Given the description of an element on the screen output the (x, y) to click on. 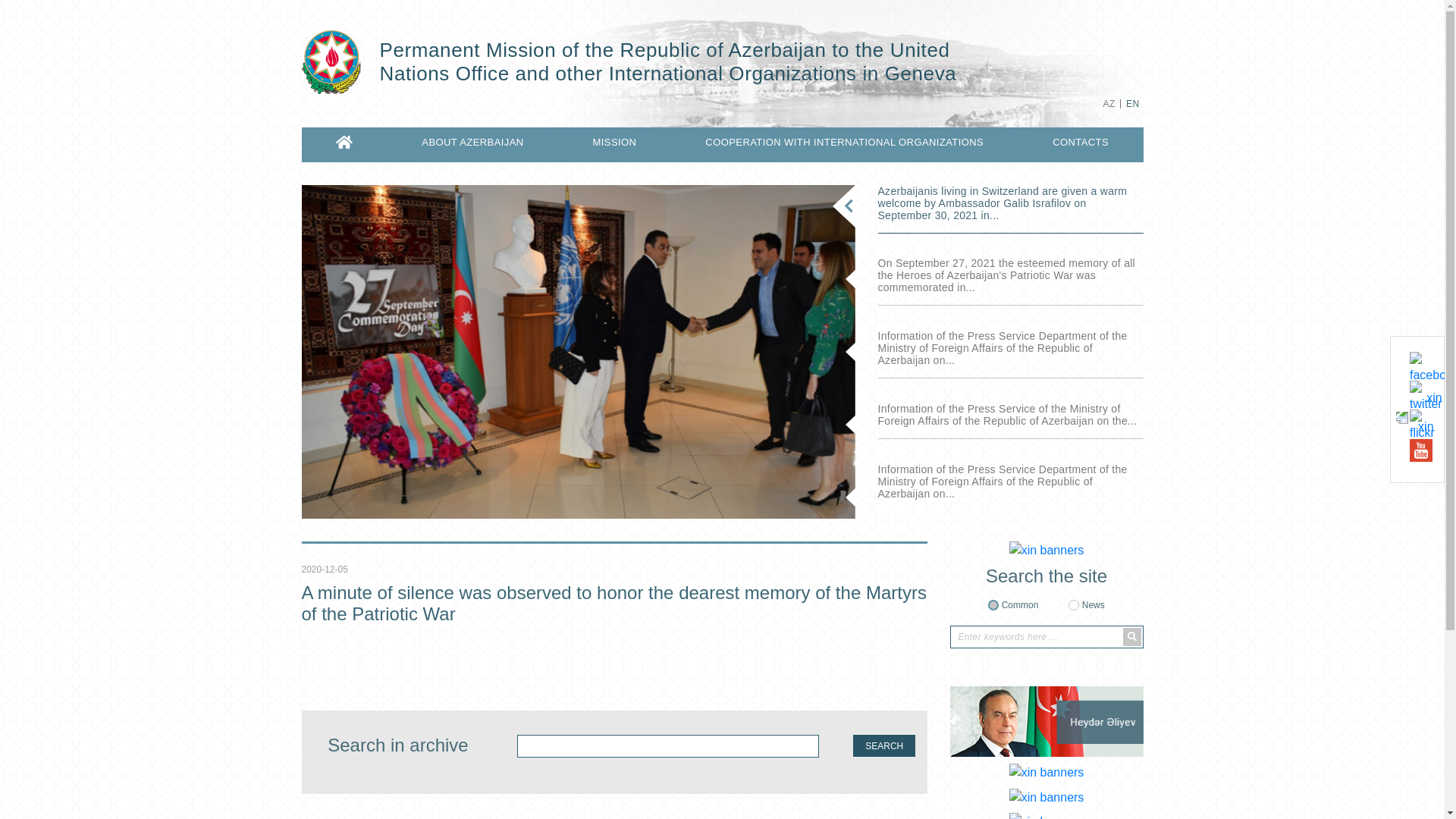
MISSION Element type: text (614, 142)
SEARCH Element type: text (884, 745)
ABOUT AZERBAIJAN Element type: text (472, 142)
AZ Element type: text (1109, 103)
EN Element type: text (1132, 103)
COOPERATION WITH INTERNATIONAL ORGANIZATIONS Element type: text (844, 142)
CONTACTS Element type: text (1080, 142)
